Given the description of an element on the screen output the (x, y) to click on. 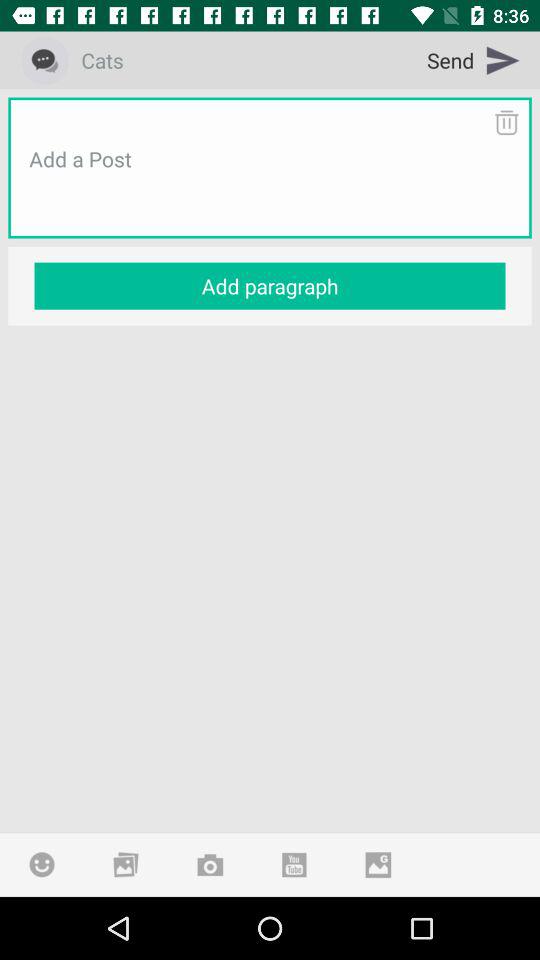
toggle emoji (42, 864)
